Given the description of an element on the screen output the (x, y) to click on. 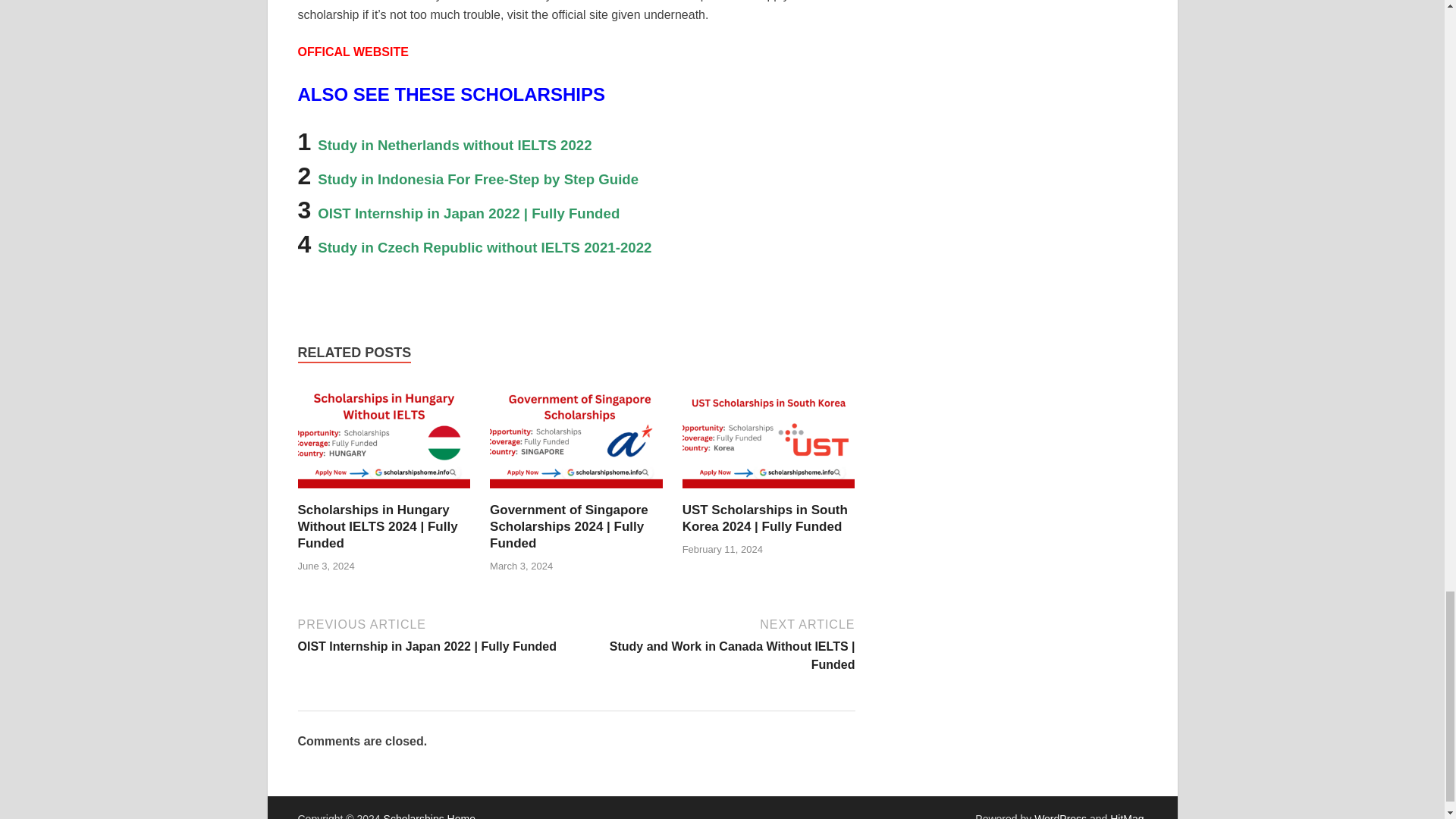
OFFICAL WEBSITE  (354, 51)
Study in Netherlands without IELTS 2022  (456, 141)
Study in Czech Republic without IELTS 2021-2022 (483, 243)
